Given the description of an element on the screen output the (x, y) to click on. 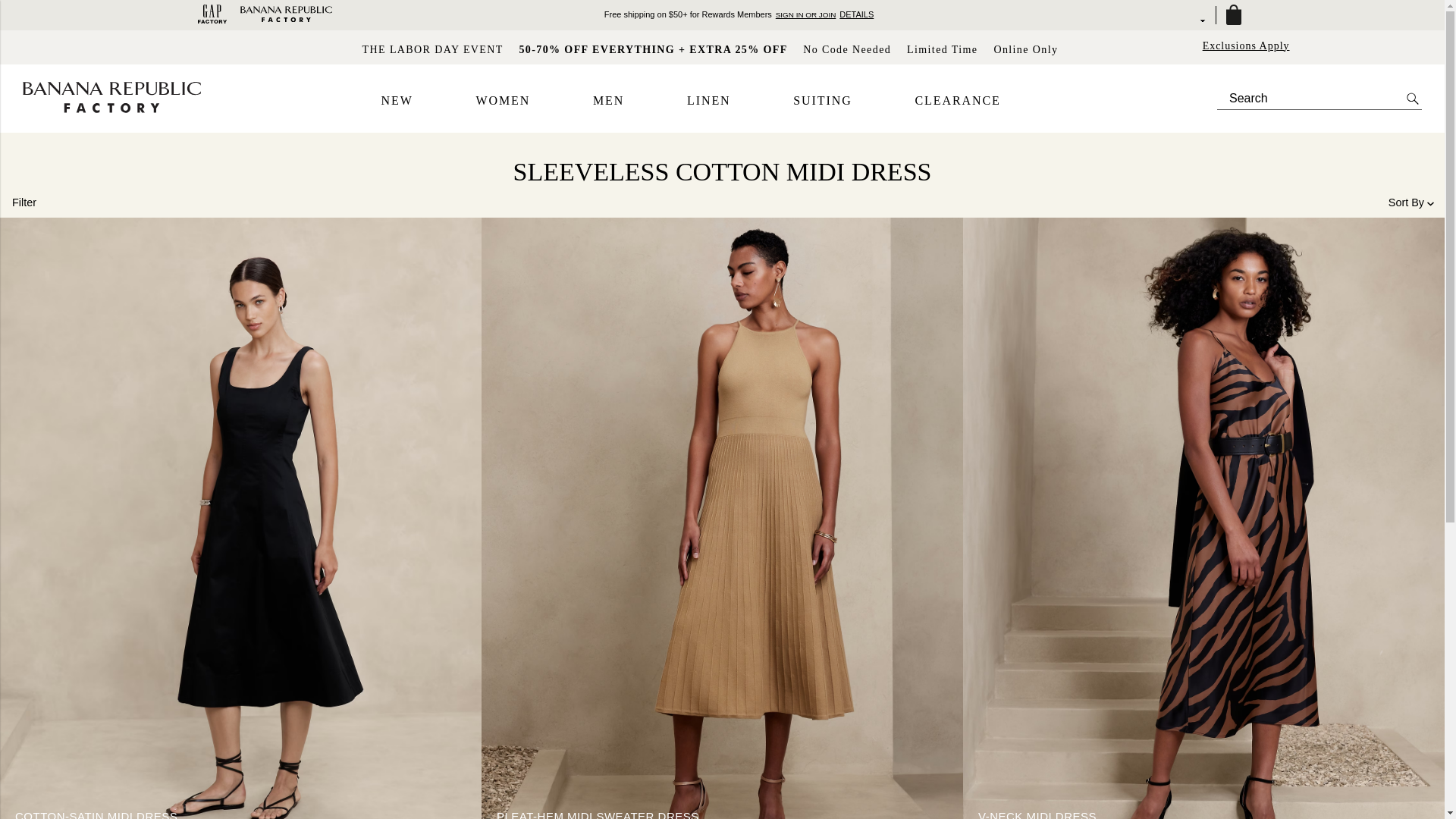
SUITING (822, 101)
Filter (24, 202)
DETAILS (856, 13)
WOMEN (502, 101)
MEN (608, 101)
CLEARANCE (957, 101)
Bag (1232, 15)
